Given the description of an element on the screen output the (x, y) to click on. 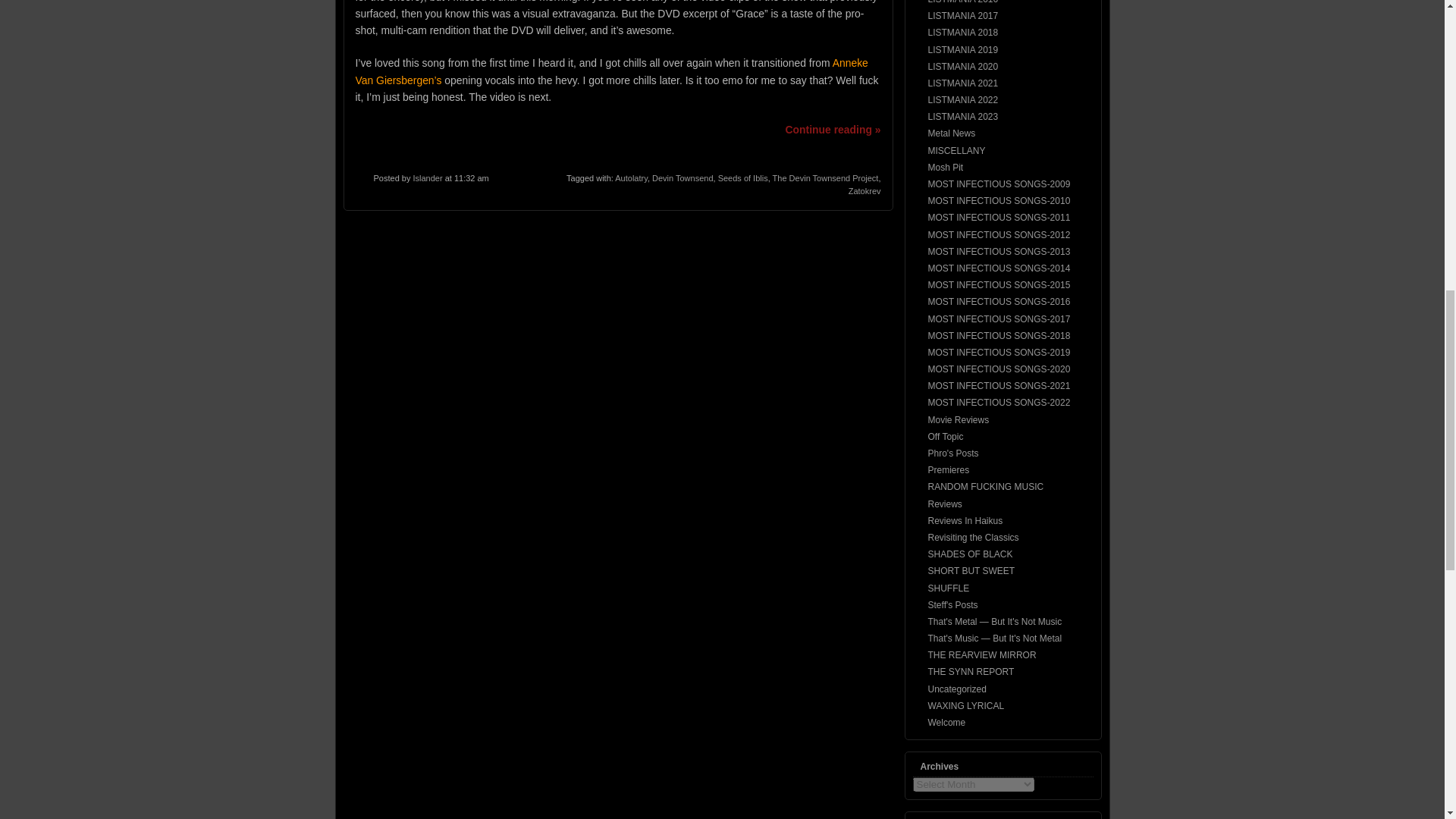
The Devin Townsend Project (826, 177)
Seeds of Iblis (742, 177)
Devin Townsend (682, 177)
Autolatry (630, 177)
Zatokrev (864, 190)
Islander (427, 177)
